Given the description of an element on the screen output the (x, y) to click on. 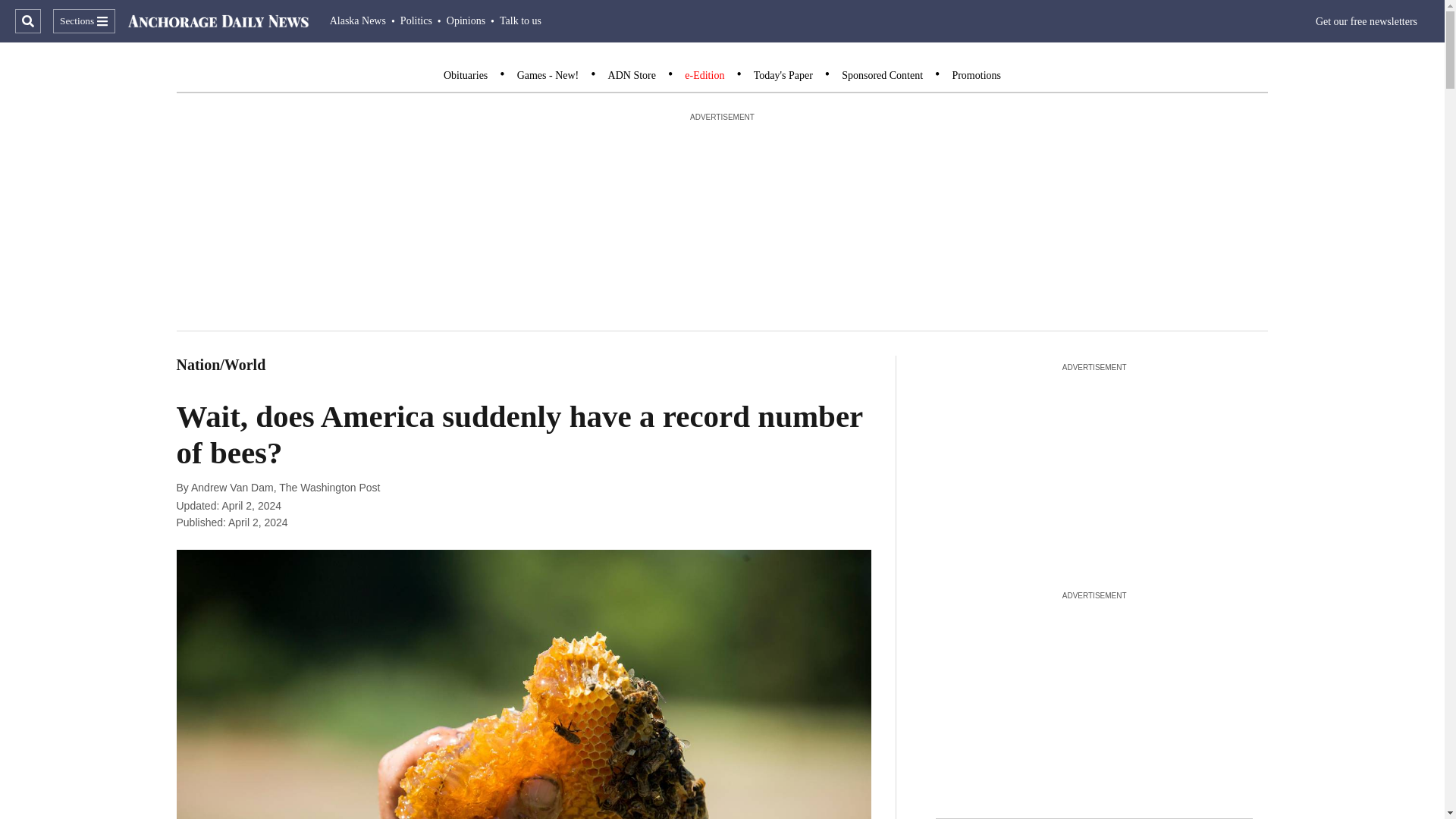
Sections (83, 21)
Alaska News (357, 20)
ADN Logo (218, 20)
Opinions (465, 20)
Politics (416, 20)
Get our free newsletters (1366, 21)
